Given the description of an element on the screen output the (x, y) to click on. 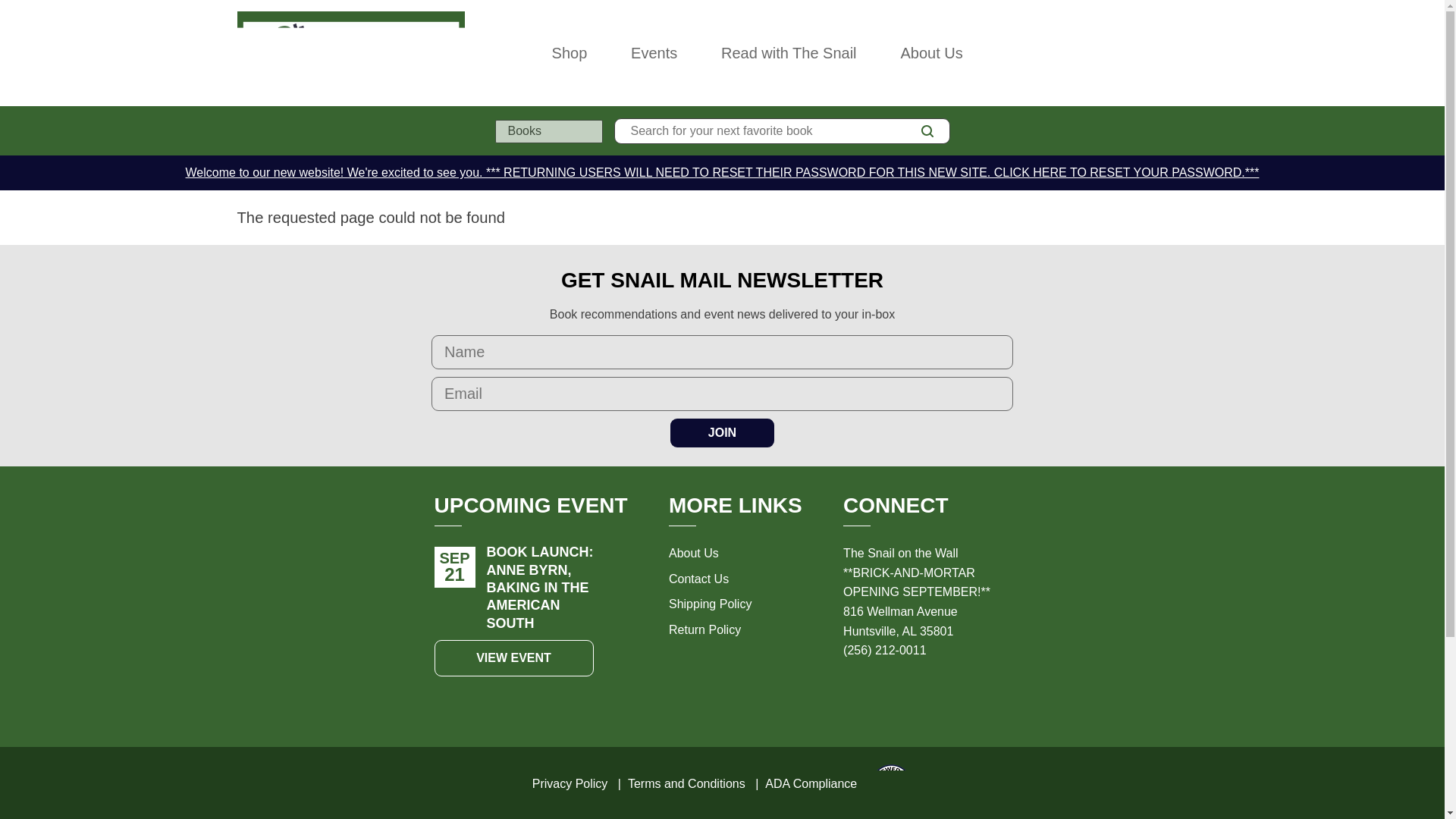
Cart (1201, 52)
Connect with Facebook (885, 693)
Join (721, 432)
Connect with Tik Tok (919, 693)
Connect with Youtube Channel (951, 693)
Connect with Instagram (852, 693)
Log in (1134, 52)
Shipping Policy (709, 603)
Log in (1134, 52)
About Us (693, 553)
